Given the description of an element on the screen output the (x, y) to click on. 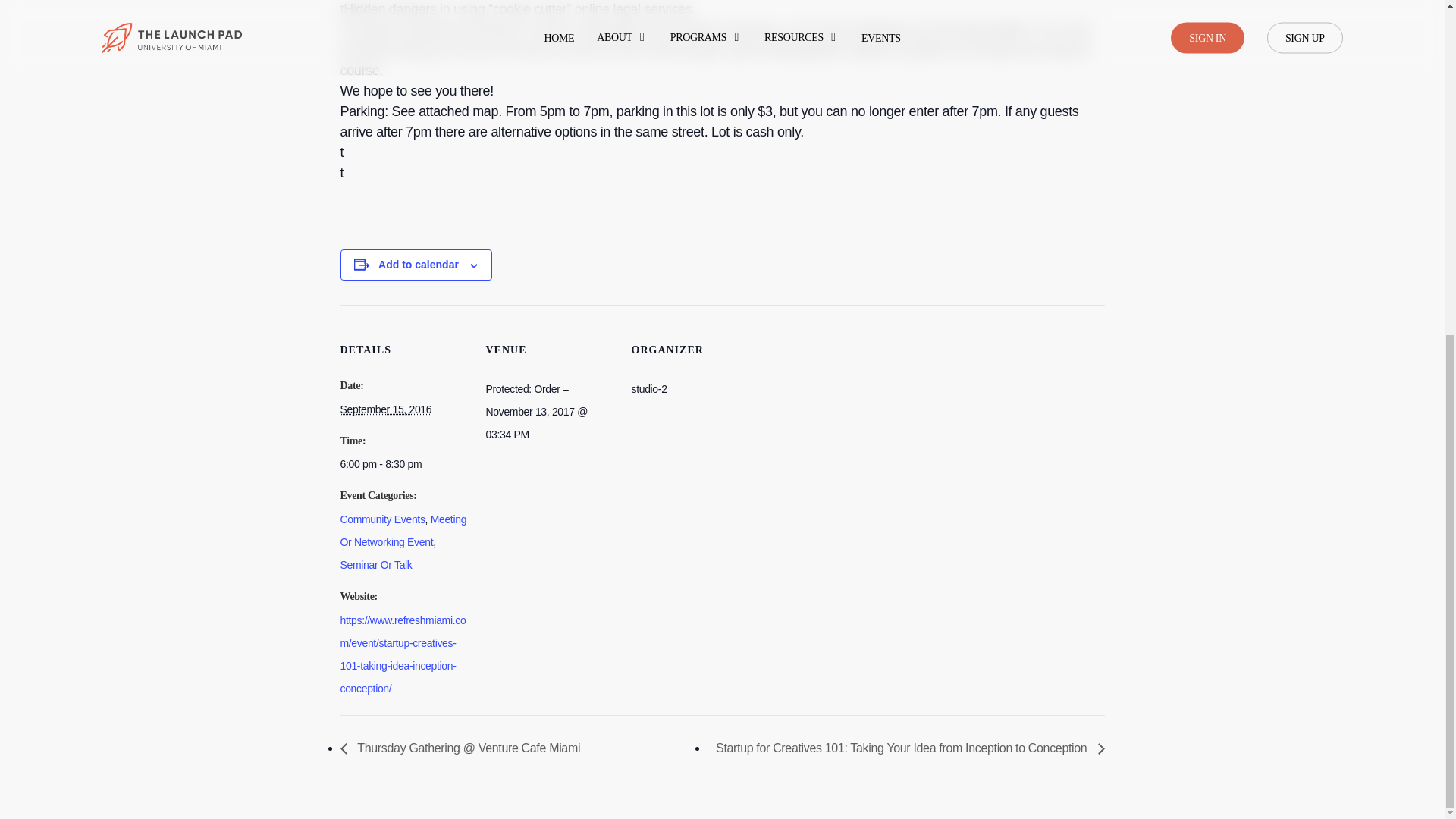
2016-09-15 (403, 463)
Add to calendar (418, 264)
2016-09-15 (384, 409)
